Given the description of an element on the screen output the (x, y) to click on. 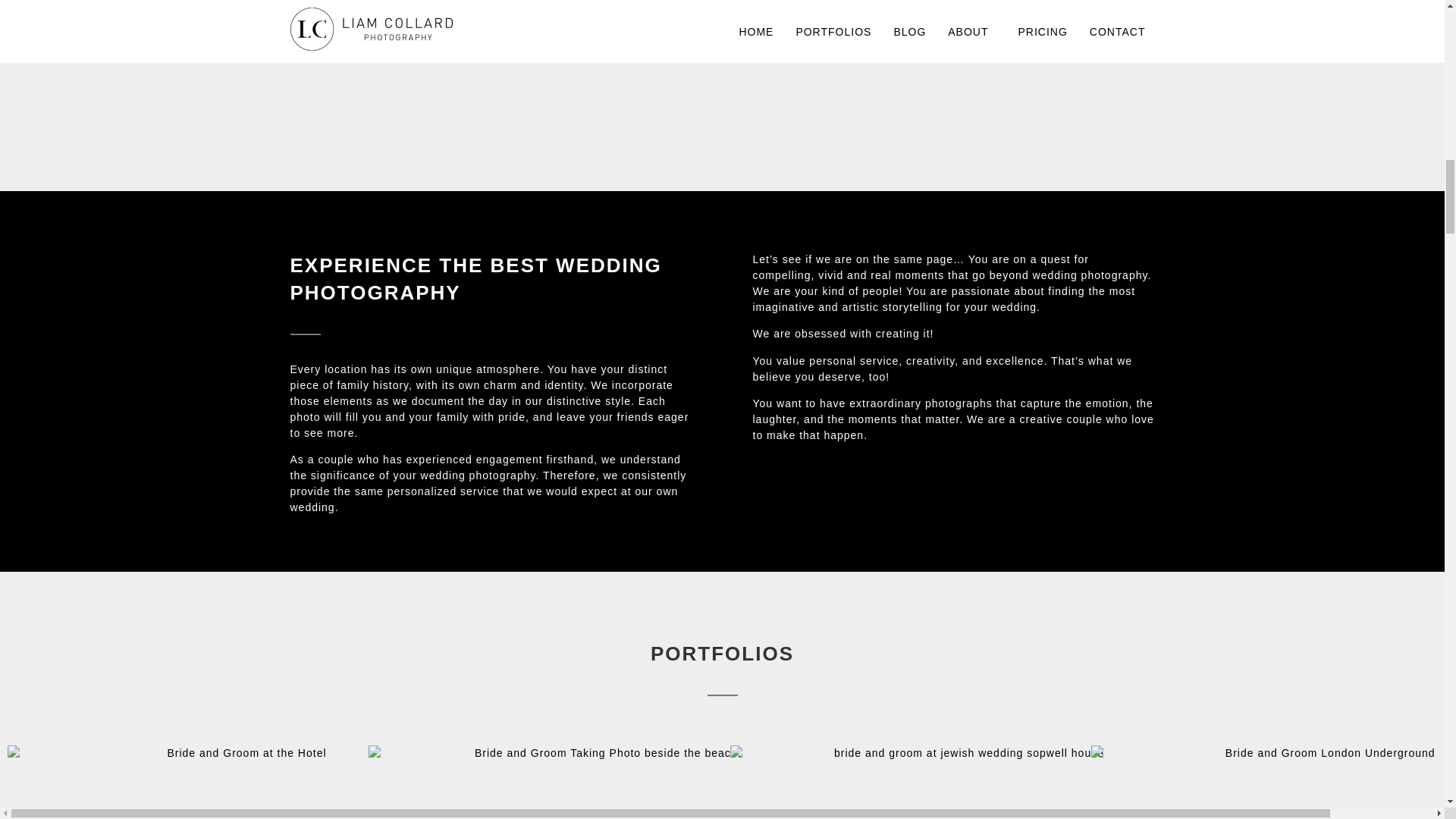
 wedding (1012, 306)
